Given the description of an element on the screen output the (x, y) to click on. 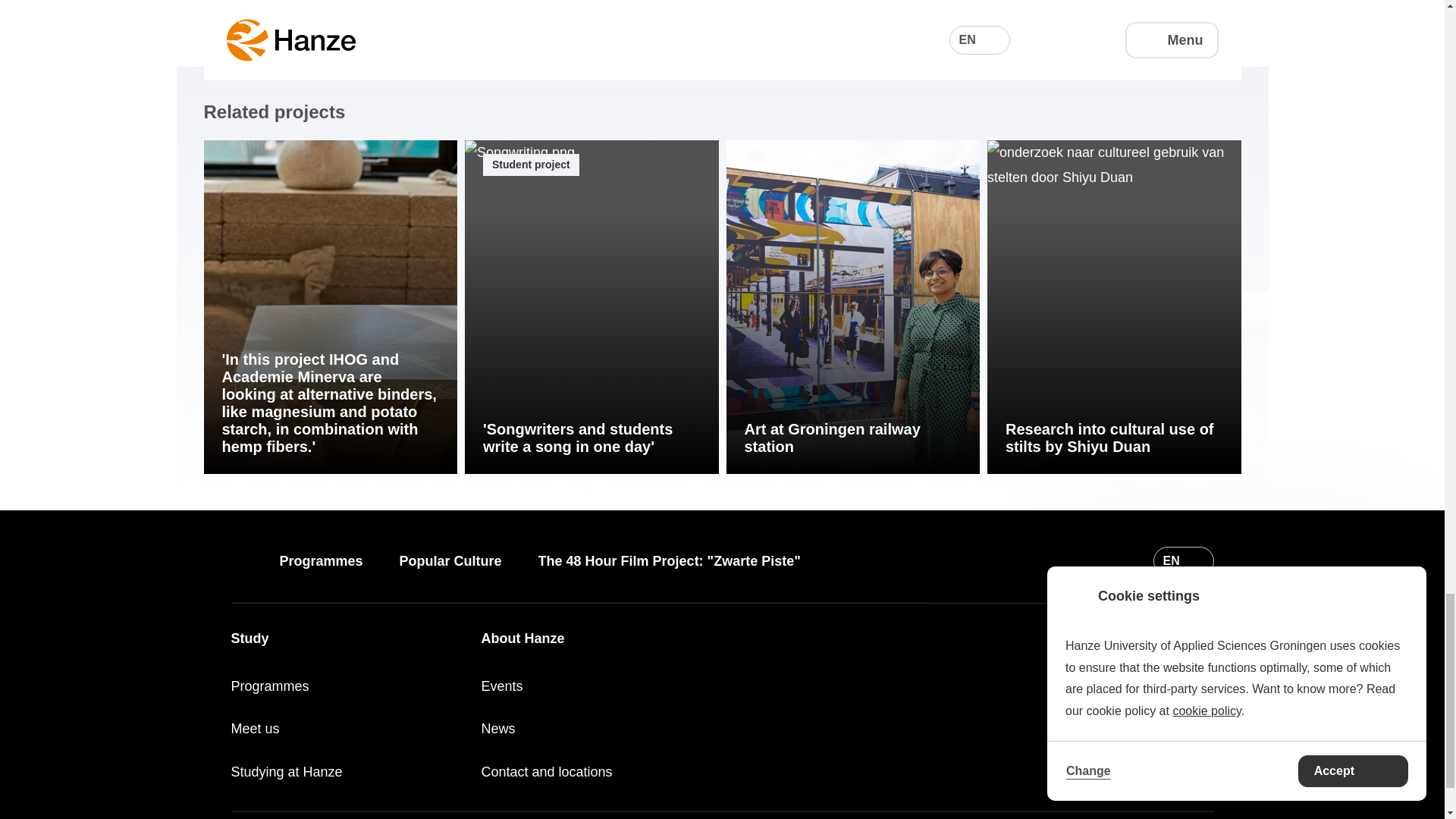
Sla over (217, 170)
